Given the description of an element on the screen output the (x, y) to click on. 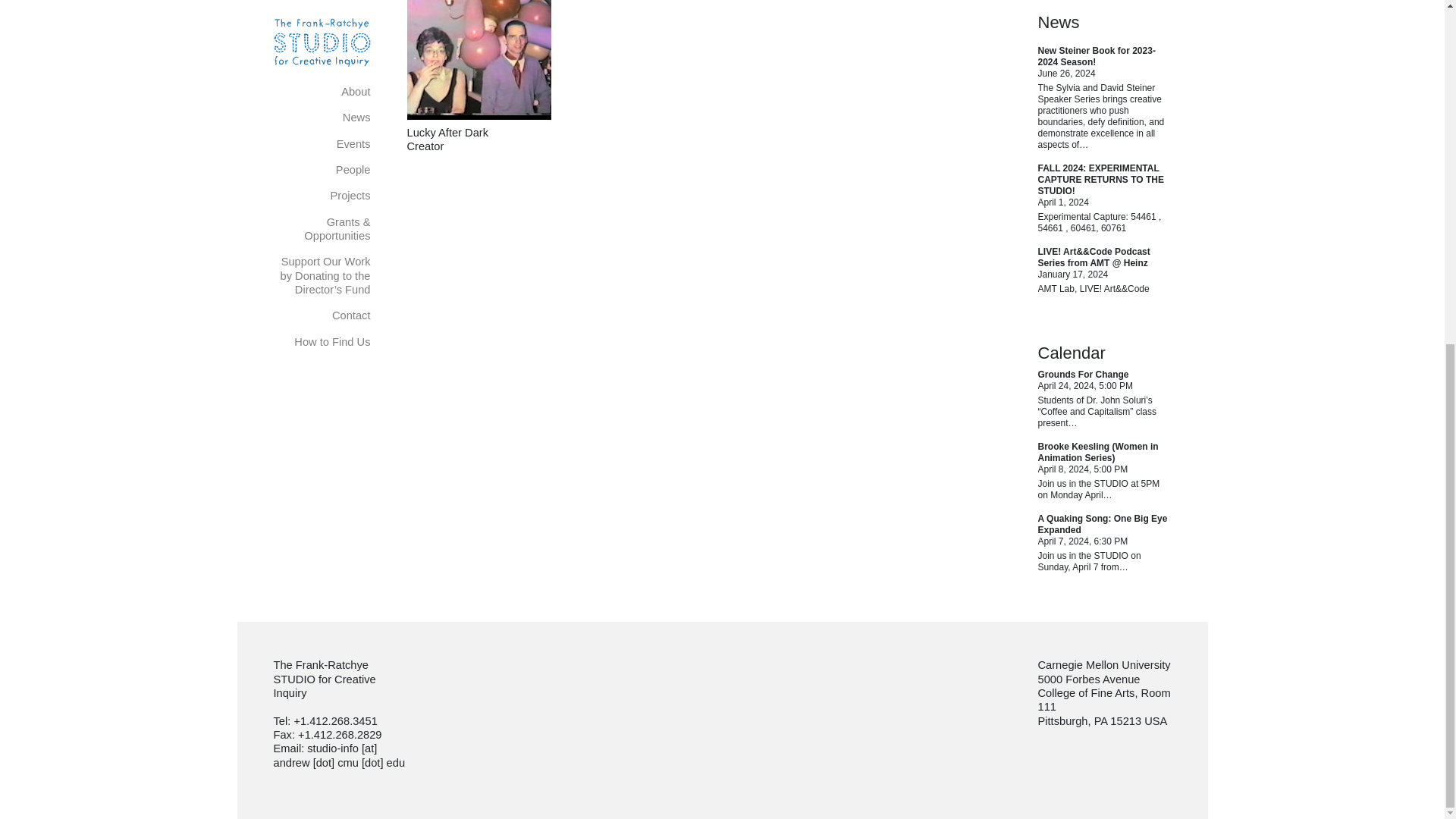
New Steiner Book for 2023-2024 Season! (1095, 56)
